Given the description of an element on the screen output the (x, y) to click on. 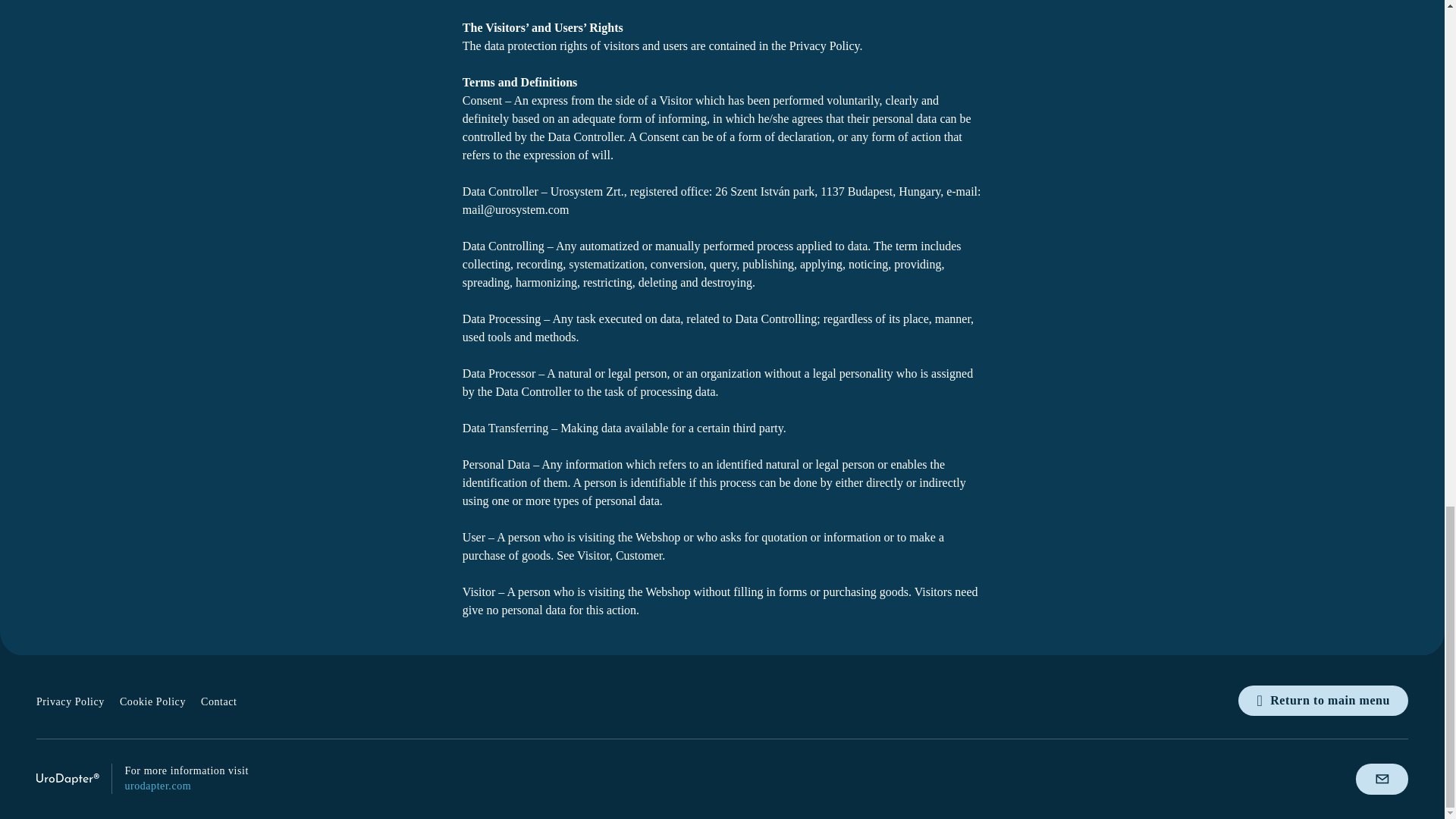
urodapter.com (156, 785)
Return to main menu (1323, 700)
Cookie Policy (152, 702)
Contact (217, 702)
Privacy Policy (70, 702)
